Given the description of an element on the screen output the (x, y) to click on. 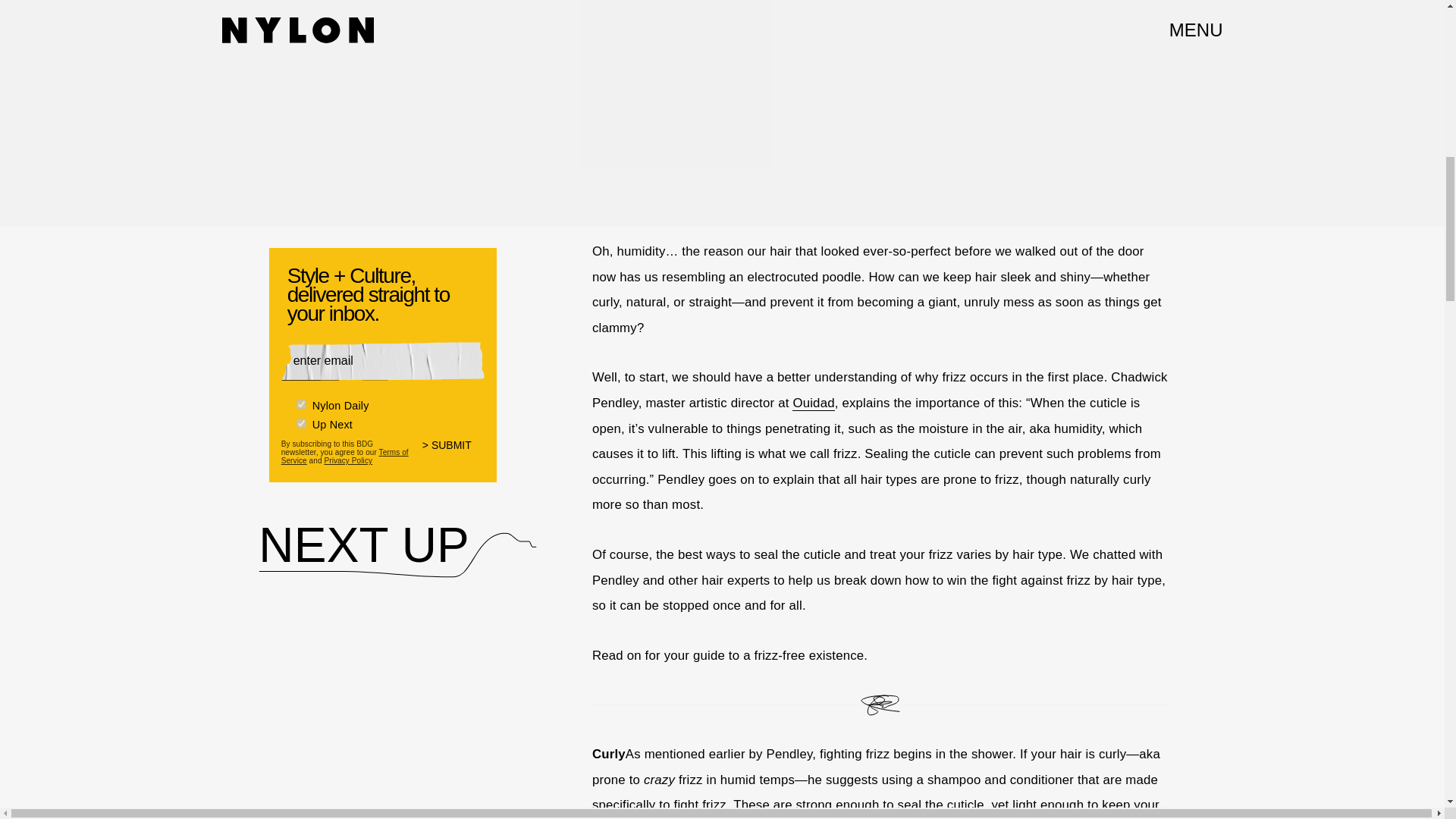
SUBMIT (453, 454)
Privacy Policy (347, 460)
Ouidad (813, 403)
Terms of Service (345, 456)
